Given the description of an element on the screen output the (x, y) to click on. 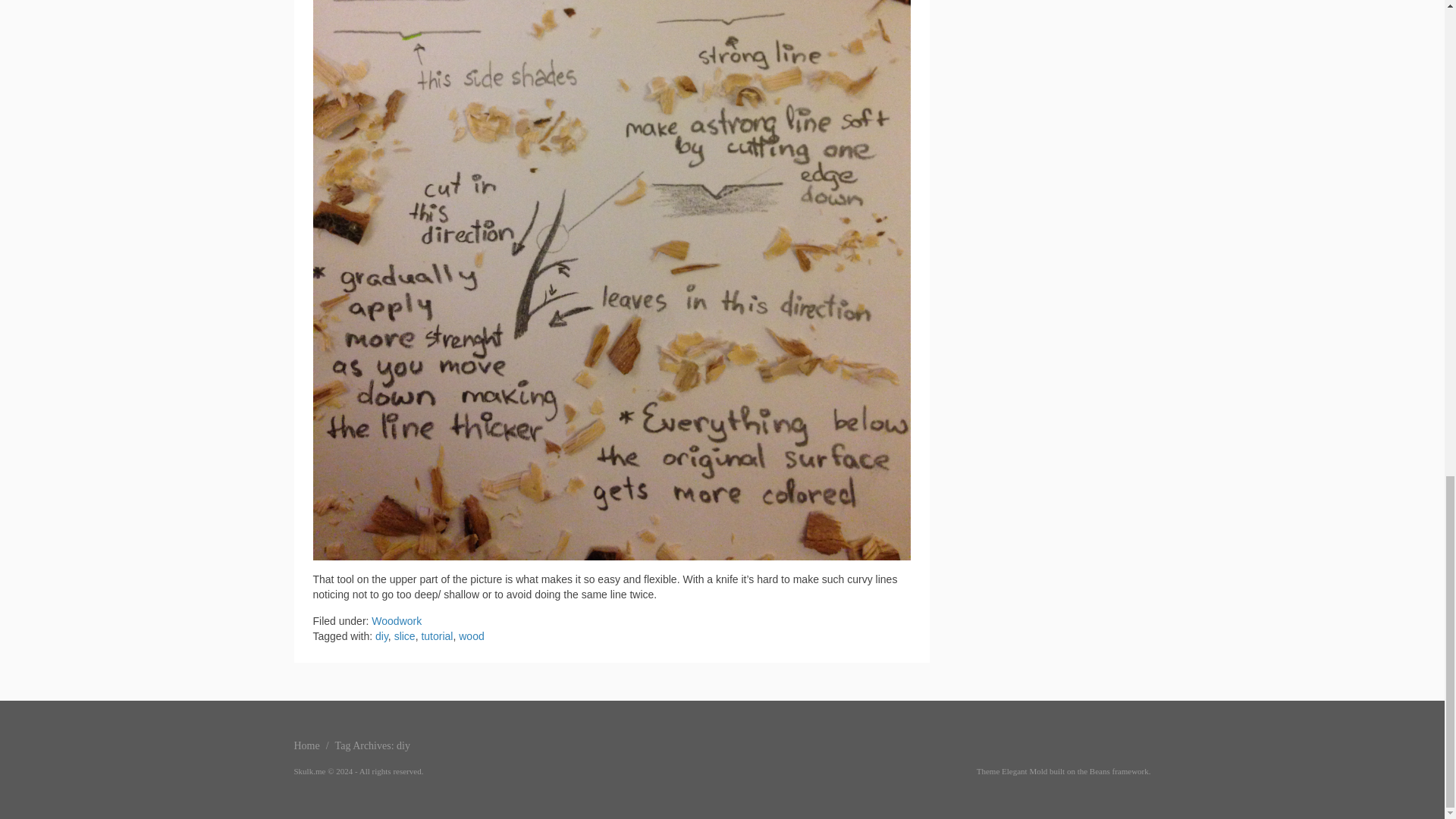
Elegant Mold (1023, 770)
diy (381, 635)
slice (404, 635)
tutorial (436, 635)
Beans (1099, 770)
Woodwork (396, 621)
wood (470, 635)
Home (307, 745)
